Given the description of an element on the screen output the (x, y) to click on. 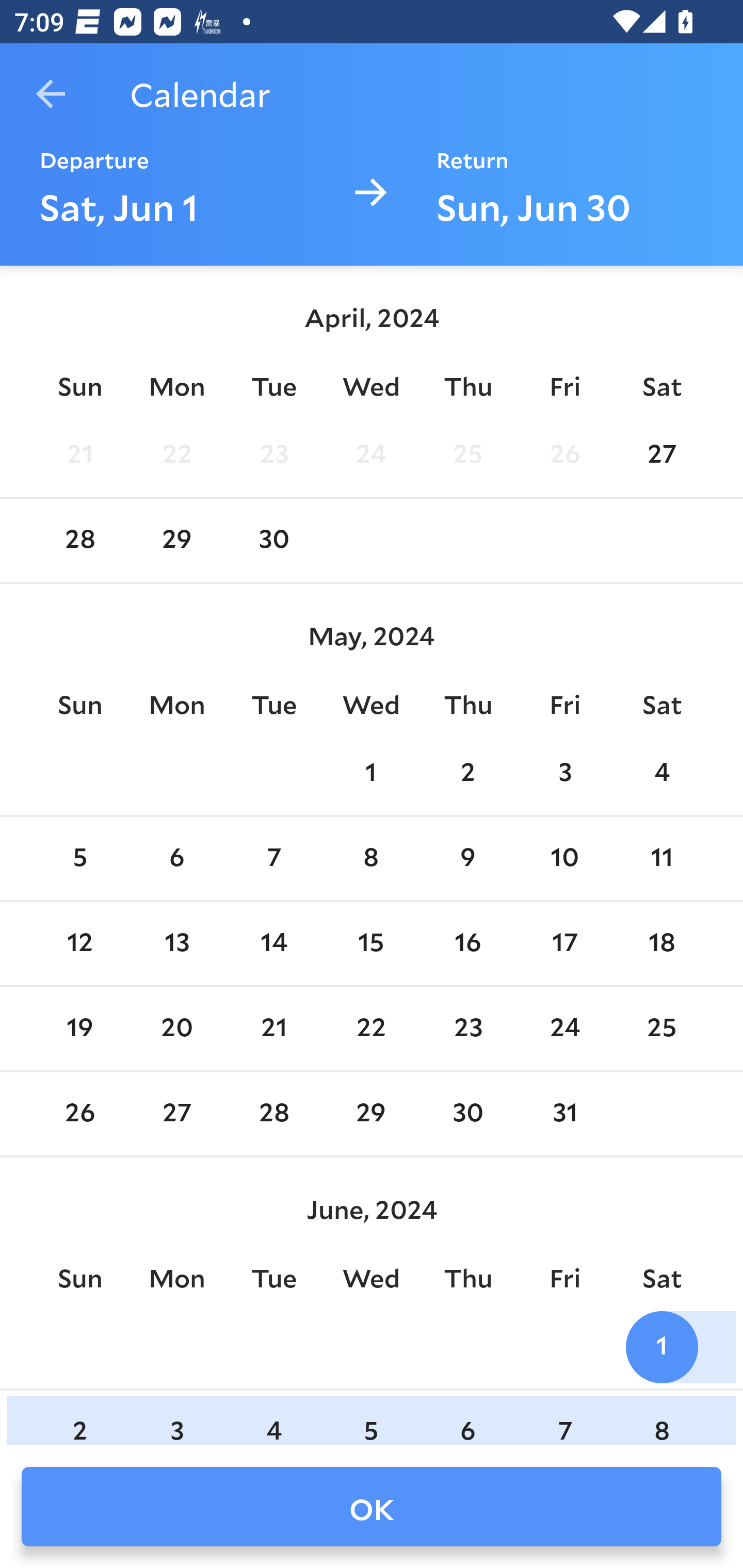
Navigate up (50, 93)
21 (79, 454)
22 (177, 454)
23 (273, 454)
24 (371, 454)
25 (467, 454)
26 (565, 454)
27 (661, 454)
28 (79, 540)
29 (177, 540)
30 (273, 540)
1 (371, 772)
2 (467, 772)
3 (565, 772)
4 (661, 772)
5 (79, 859)
6 (177, 859)
7 (273, 859)
8 (371, 859)
9 (467, 859)
10 (565, 859)
11 (661, 859)
12 (79, 943)
13 (177, 943)
14 (273, 943)
15 (371, 943)
16 (467, 943)
17 (565, 943)
18 (661, 943)
19 (79, 1028)
20 (177, 1028)
21 (273, 1028)
22 (371, 1028)
23 (467, 1028)
24 (565, 1028)
25 (661, 1028)
26 (79, 1114)
27 (177, 1114)
28 (273, 1114)
29 (371, 1114)
30 (467, 1114)
31 (565, 1114)
1 (661, 1346)
2 (79, 1420)
3 (177, 1420)
4 (273, 1420)
5 (371, 1420)
6 (467, 1420)
7 (565, 1420)
8 (661, 1420)
